Given the description of an element on the screen output the (x, y) to click on. 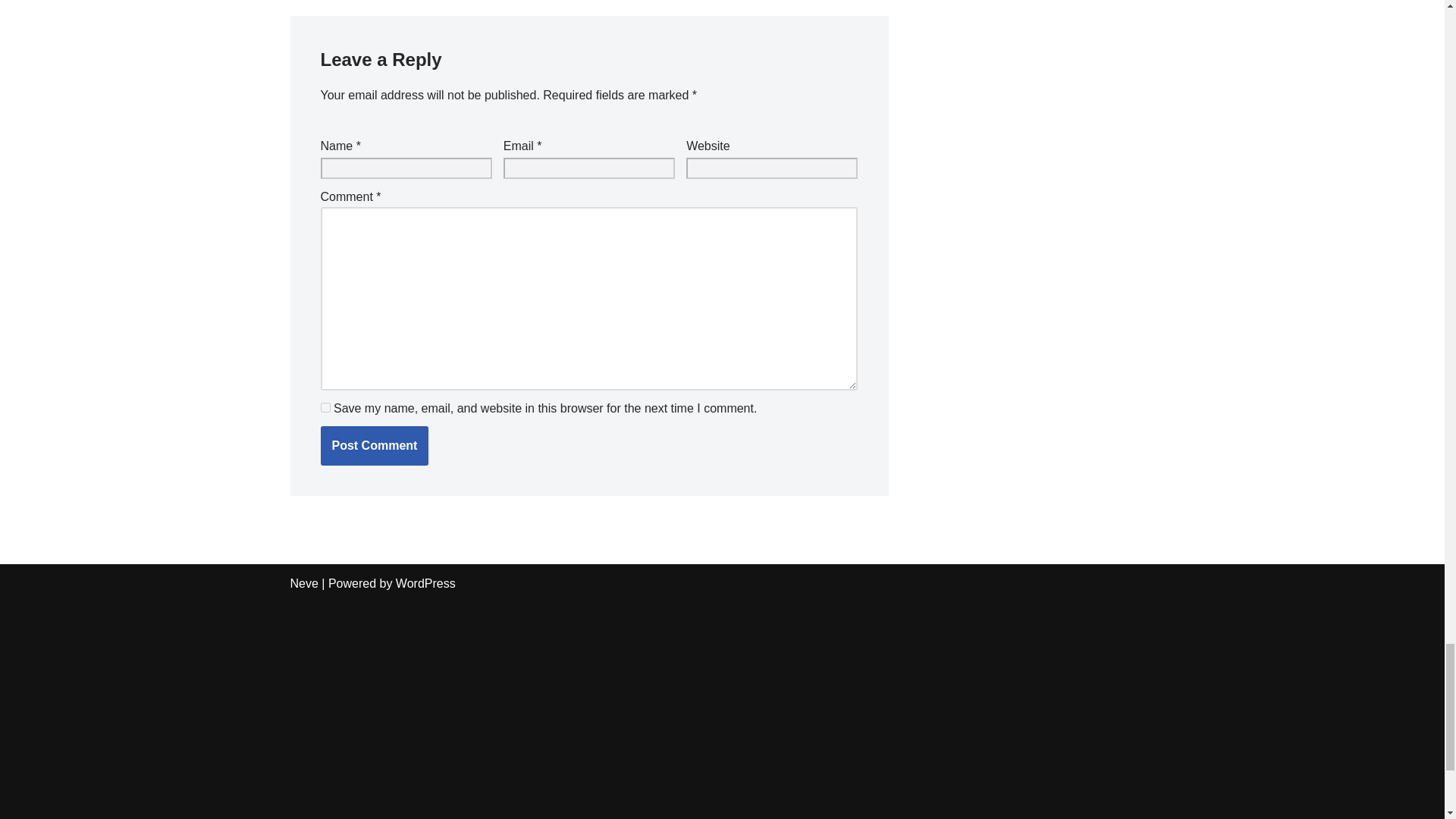
Post Comment (374, 445)
yes (325, 407)
Post Comment (374, 445)
